Given the description of an element on the screen output the (x, y) to click on. 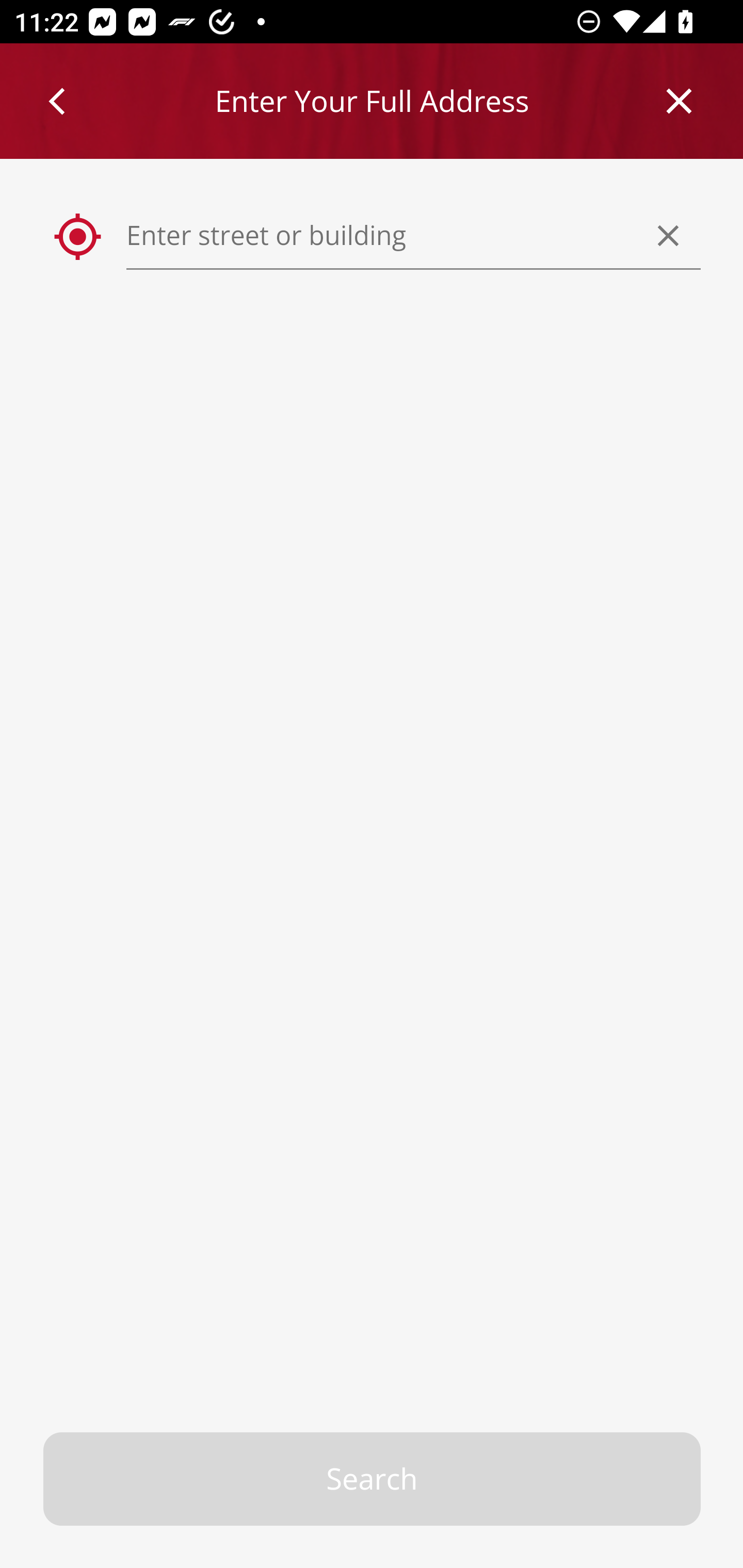
arrow_back_ios (65, 100)
close (679, 100)
gps_fixed (78, 237)
clear (669, 235)
Search (372, 1479)
